Given the description of an element on the screen output the (x, y) to click on. 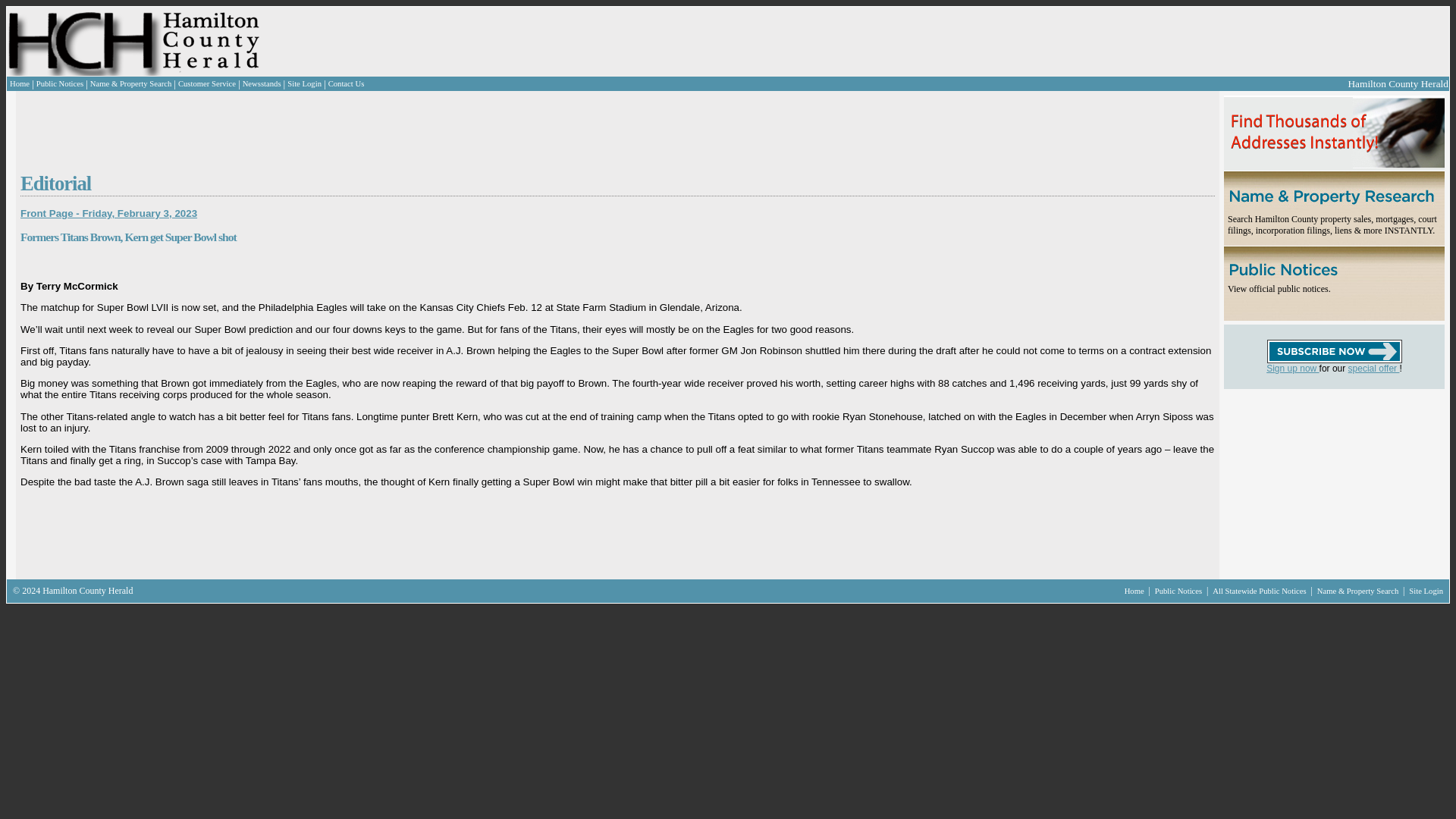
Customer Service (206, 83)
Site Login (303, 83)
3rd party ad content (1314, 483)
Newsstands (262, 83)
View official public notices. (1278, 288)
All Statewide Public Notices (1259, 591)
Home (1135, 591)
Site Login (1425, 591)
Front Page - Friday, February 3, 2023 (108, 213)
3rd party ad content (579, 41)
